Given the description of an element on the screen output the (x, y) to click on. 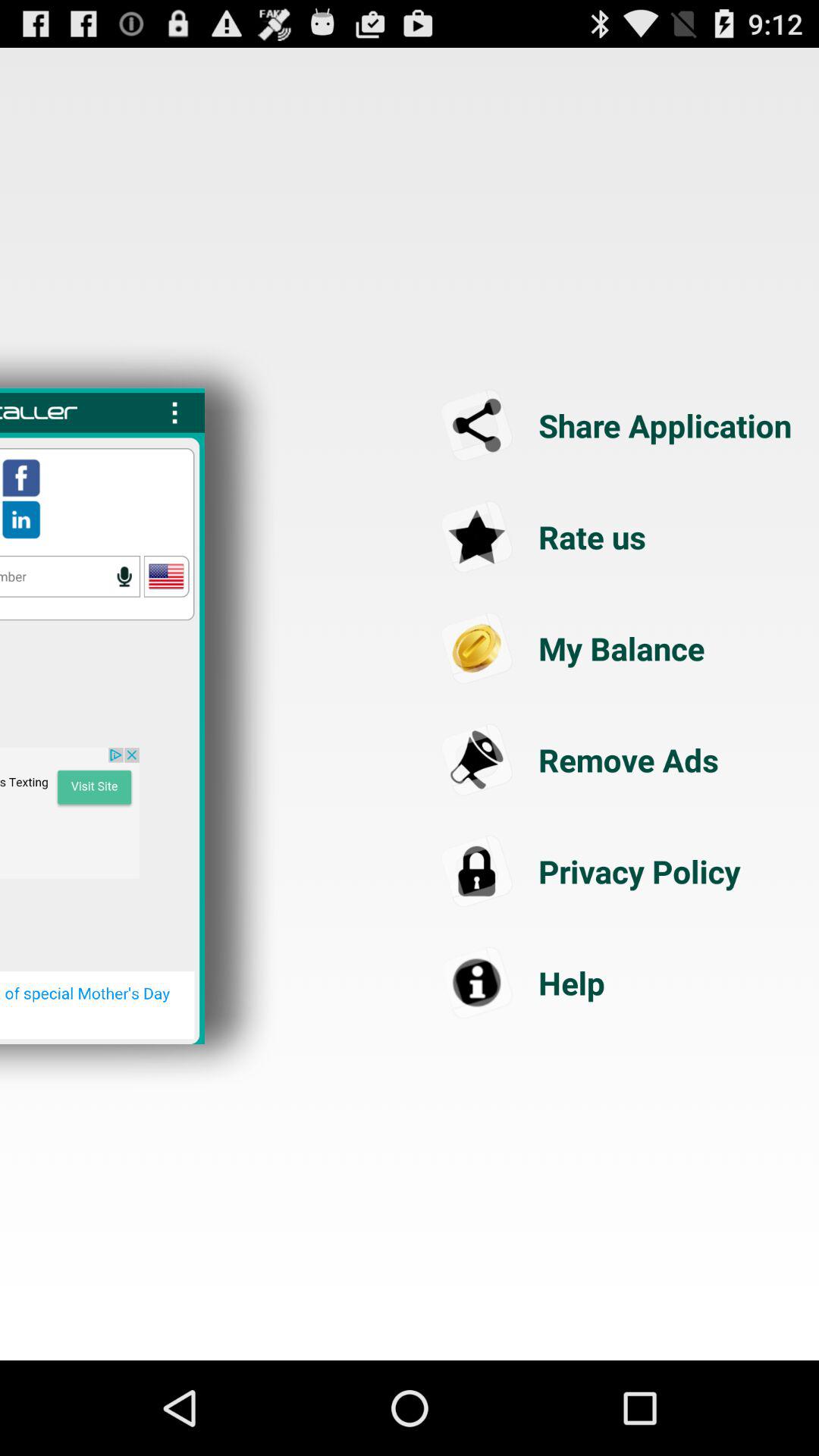
show more options (175, 412)
